Given the description of an element on the screen output the (x, y) to click on. 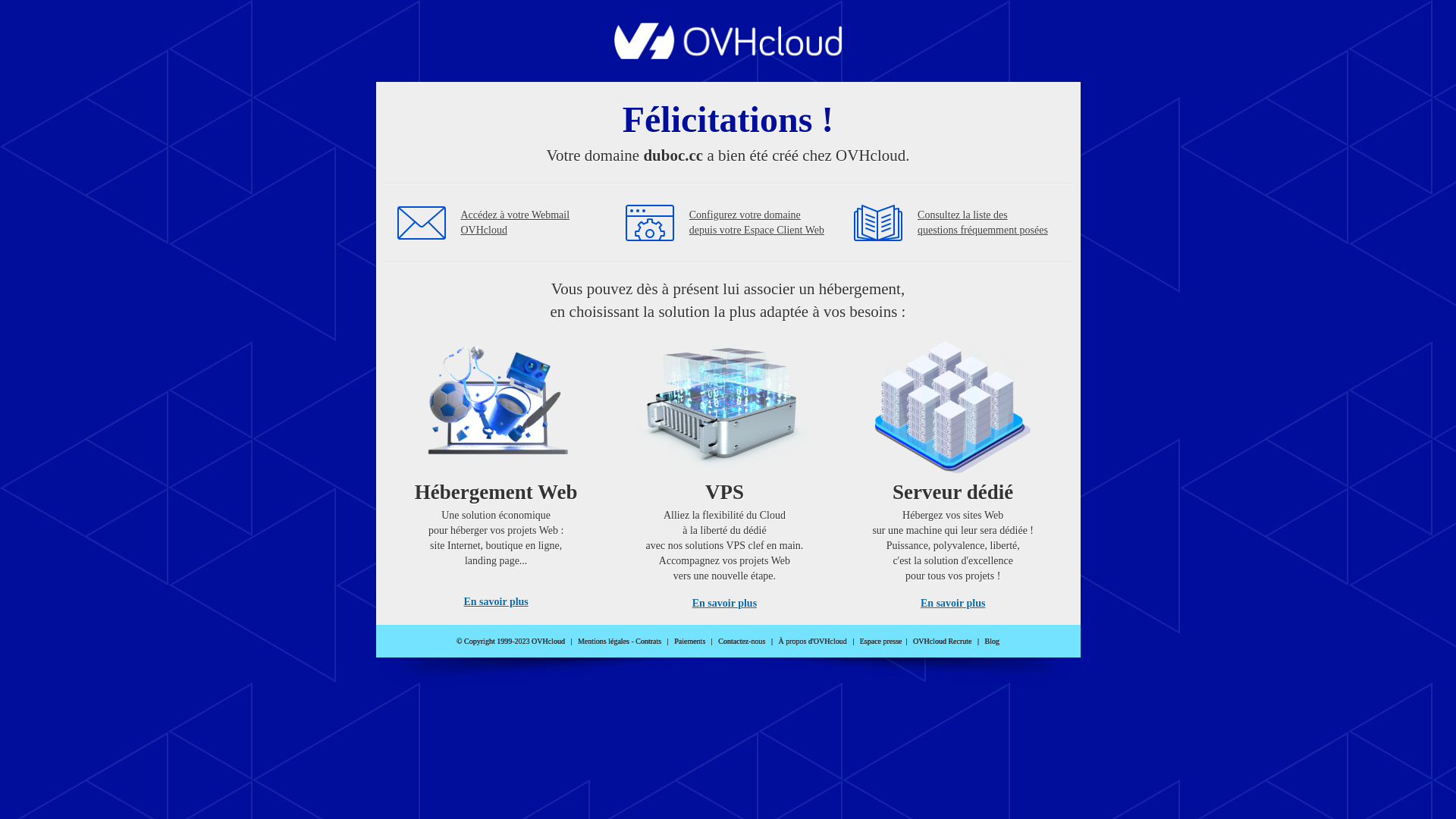
En savoir plus Element type: text (952, 602)
En savoir plus Element type: text (724, 602)
Espace presse Element type: text (880, 641)
Paiements Element type: text (689, 641)
OVHcloud Recrute Element type: text (942, 641)
Configurez votre domaine
depuis votre Espace Client Web Element type: text (756, 222)
Blog Element type: text (992, 641)
OVHcloud Element type: hover (727, 54)
En savoir plus Element type: text (495, 601)
Contactez-nous Element type: text (741, 641)
VPS Element type: hover (724, 469)
